Given the description of an element on the screen output the (x, y) to click on. 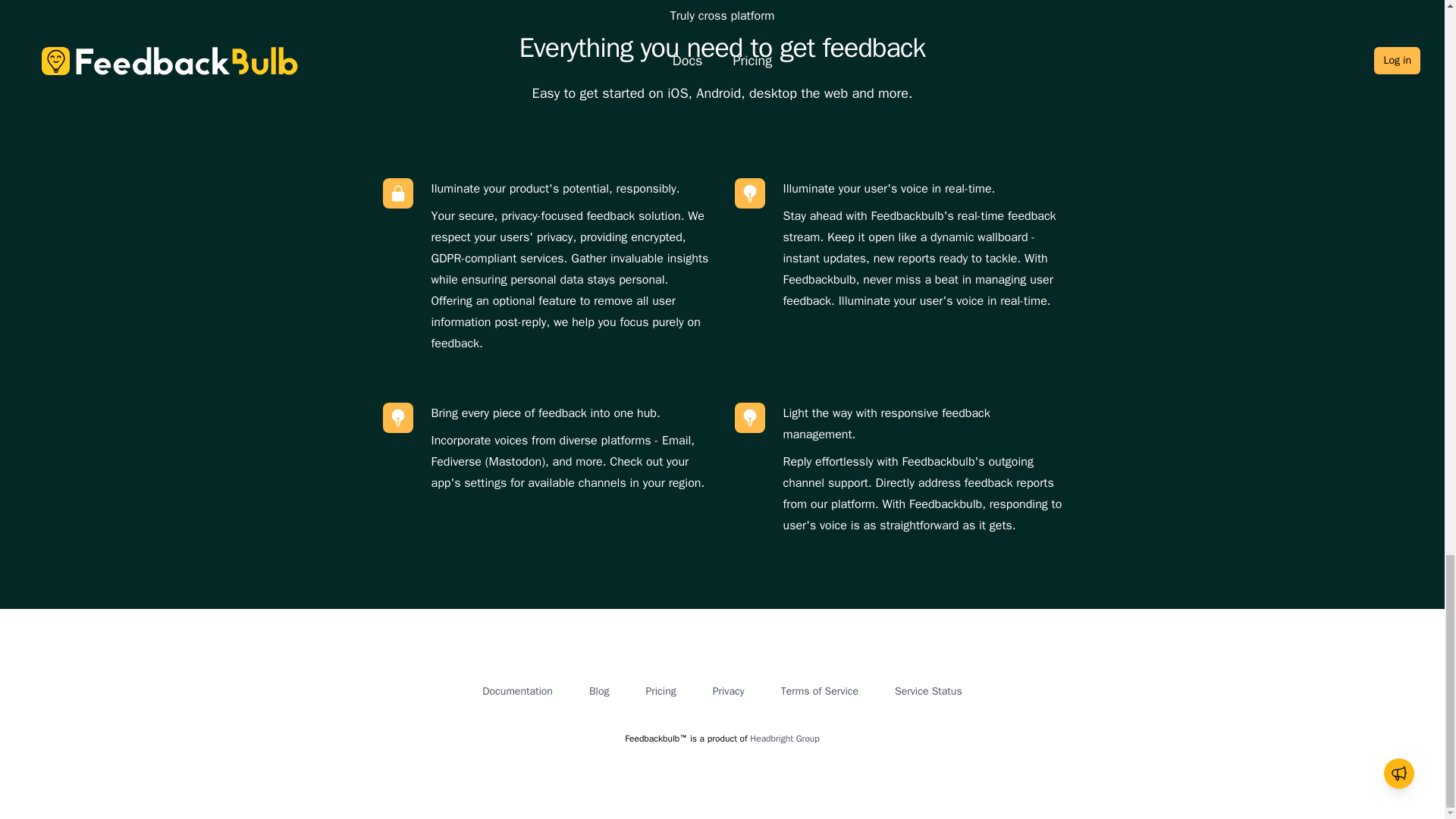
Documentation (517, 690)
Pricing (660, 690)
Privacy (728, 690)
Service Status (928, 690)
Terms of Service (819, 690)
Blog (599, 690)
Headbright Group (784, 738)
